Given the description of an element on the screen output the (x, y) to click on. 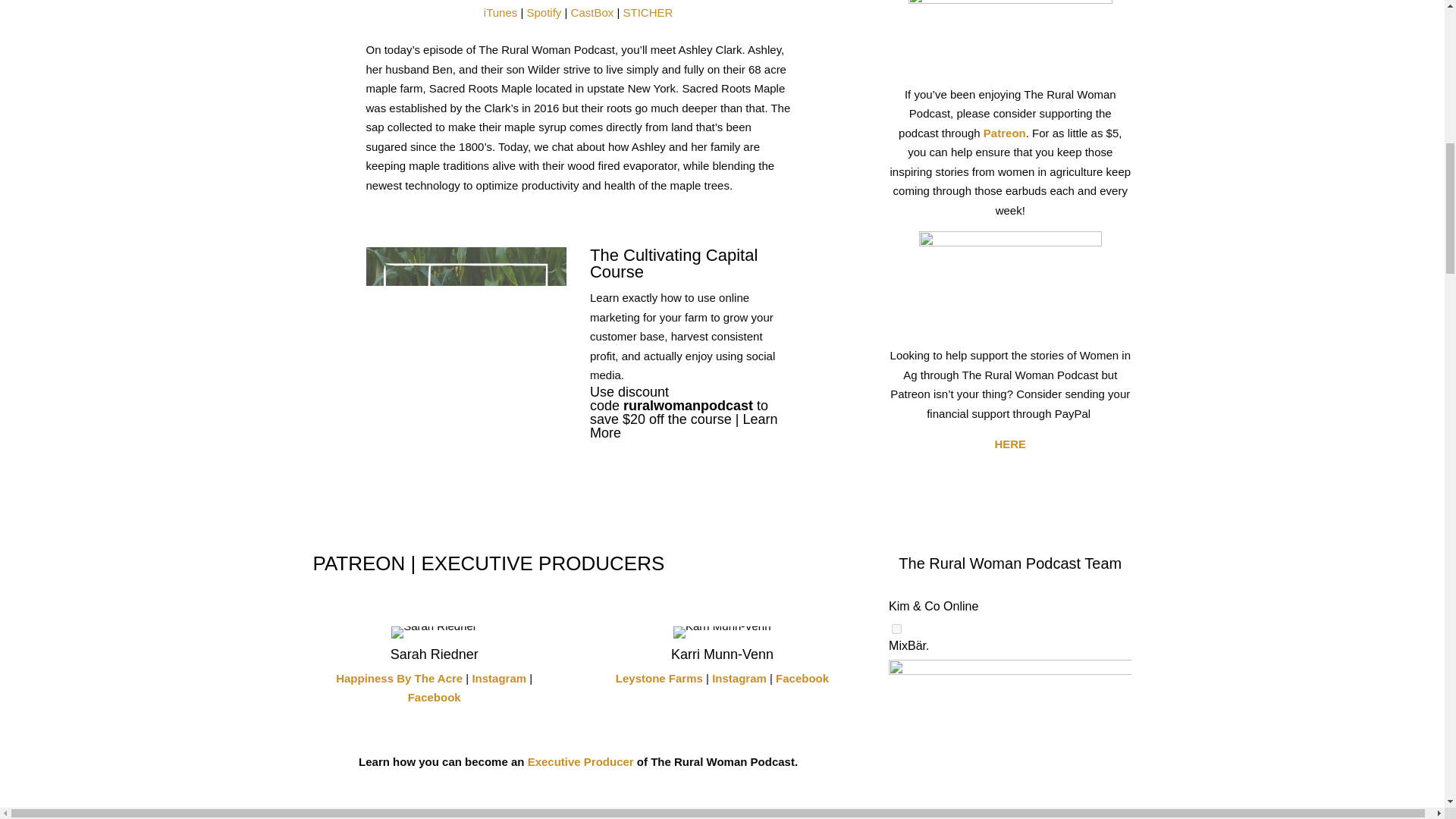
Leystone Farms (659, 677)
Follow on Facebook (919, 487)
Learn More (683, 425)
Follow on Pinterest (1009, 487)
Executive Producer (580, 761)
on (896, 628)
CastBox (592, 11)
Facebook (434, 697)
iTunes (499, 11)
Instagram (498, 677)
